Given the description of an element on the screen output the (x, y) to click on. 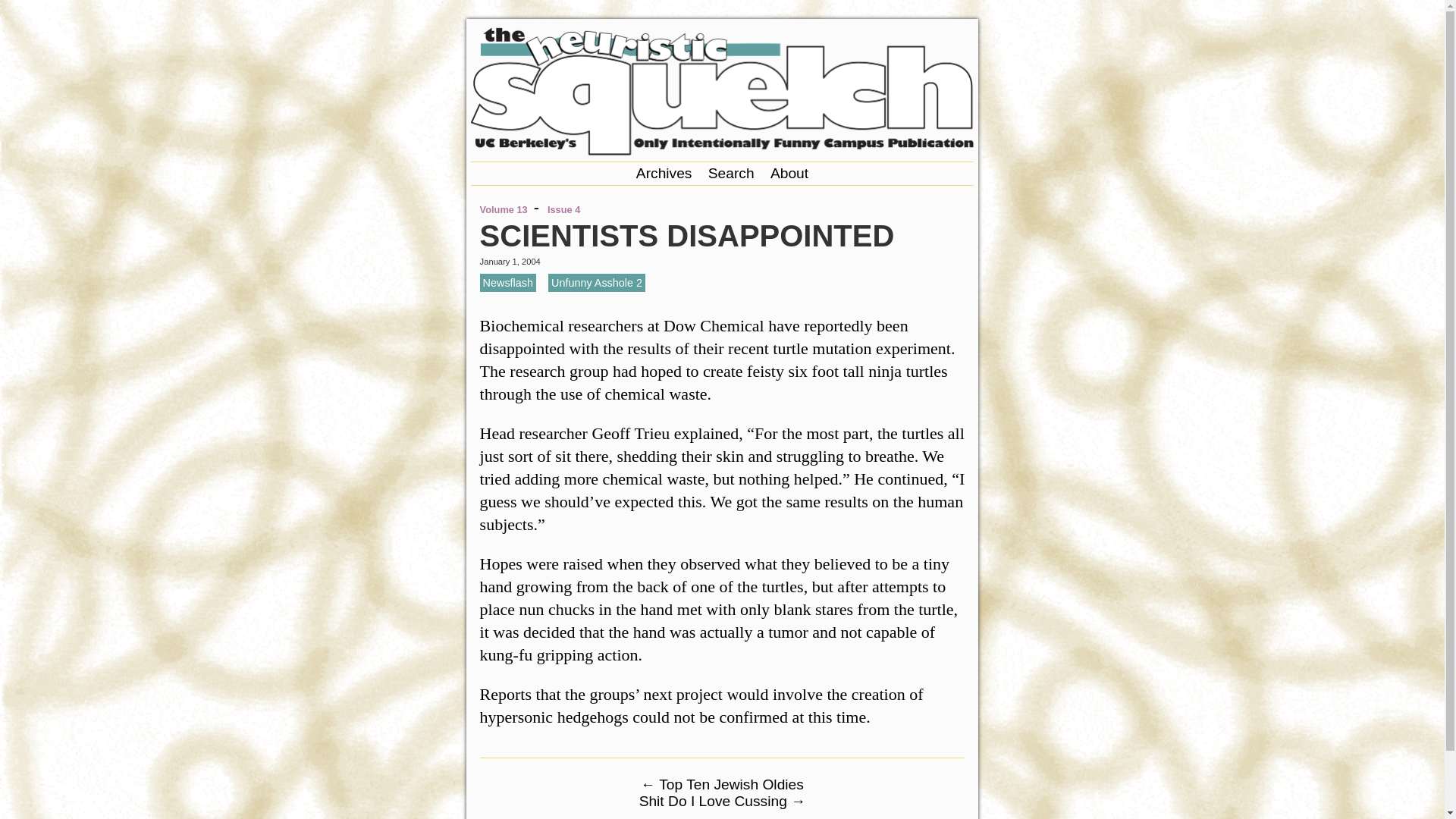
About (789, 172)
Issue 4 (563, 209)
The Heuristic Squelch (722, 150)
Scientists Disappointed (687, 235)
Newsflash (507, 282)
Search (730, 172)
SCIENTISTS DISAPPOINTED (687, 235)
Unfunny Asshole 2 (596, 282)
Archives (664, 172)
Volume 13 (503, 209)
